Given the description of an element on the screen output the (x, y) to click on. 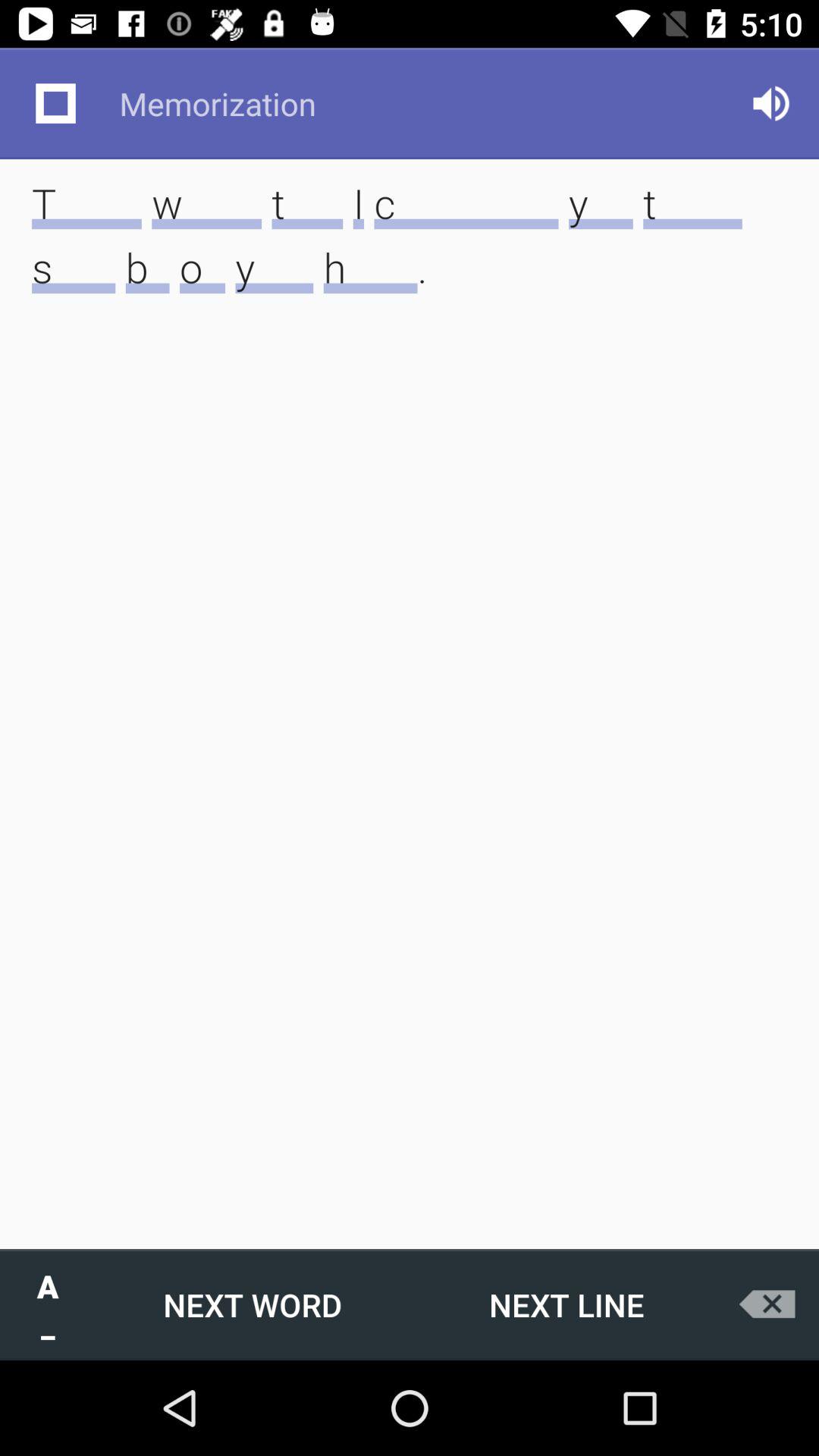
turn off icon to the left of next word item (47, 1304)
